Given the description of an element on the screen output the (x, y) to click on. 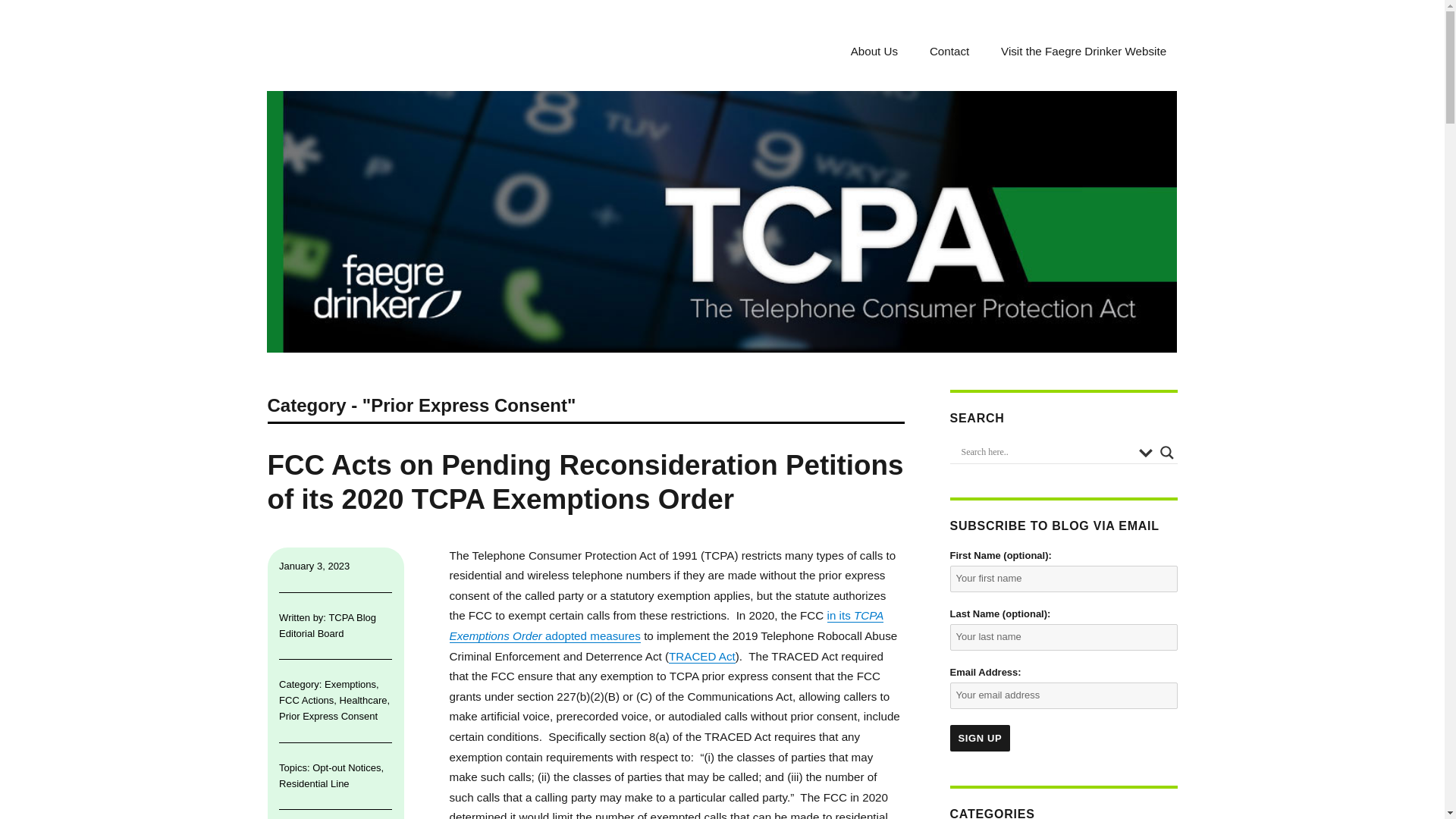
Sign up (979, 737)
Healthcare (363, 699)
Opt-out Notices (346, 767)
Visit the Faegre Drinker Website (1083, 51)
FCC Actions (306, 699)
Contact (949, 51)
Prior Express Consent (328, 715)
Posts by TCPA Blog Editorial Board (327, 625)
TRACED Act (701, 656)
